Given the description of an element on the screen output the (x, y) to click on. 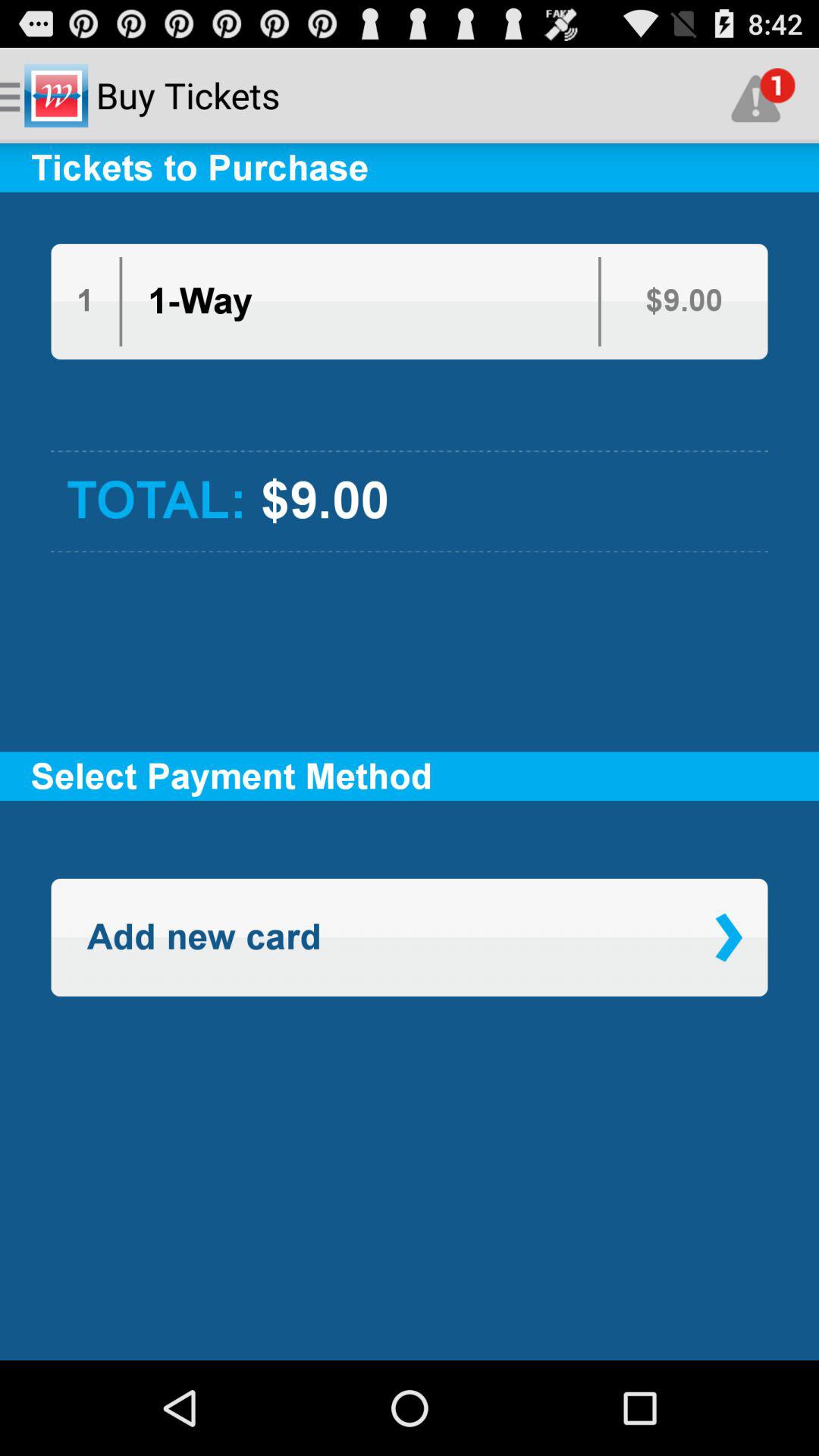
choose the item above 1 icon (409, 217)
